Given the description of an element on the screen output the (x, y) to click on. 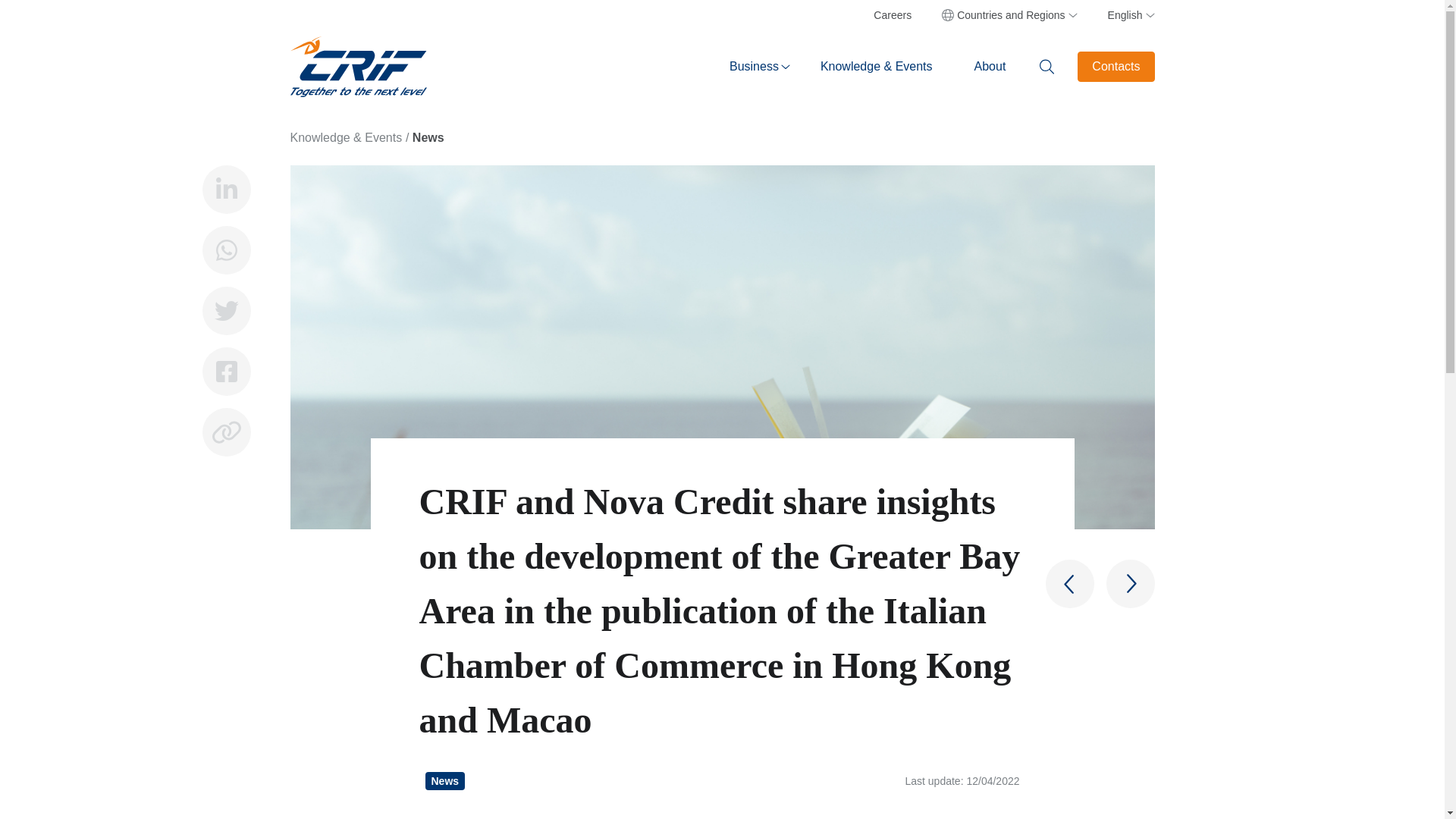
Countries and Regions (1009, 15)
Careers (892, 15)
English (1122, 15)
